Given the description of an element on the screen output the (x, y) to click on. 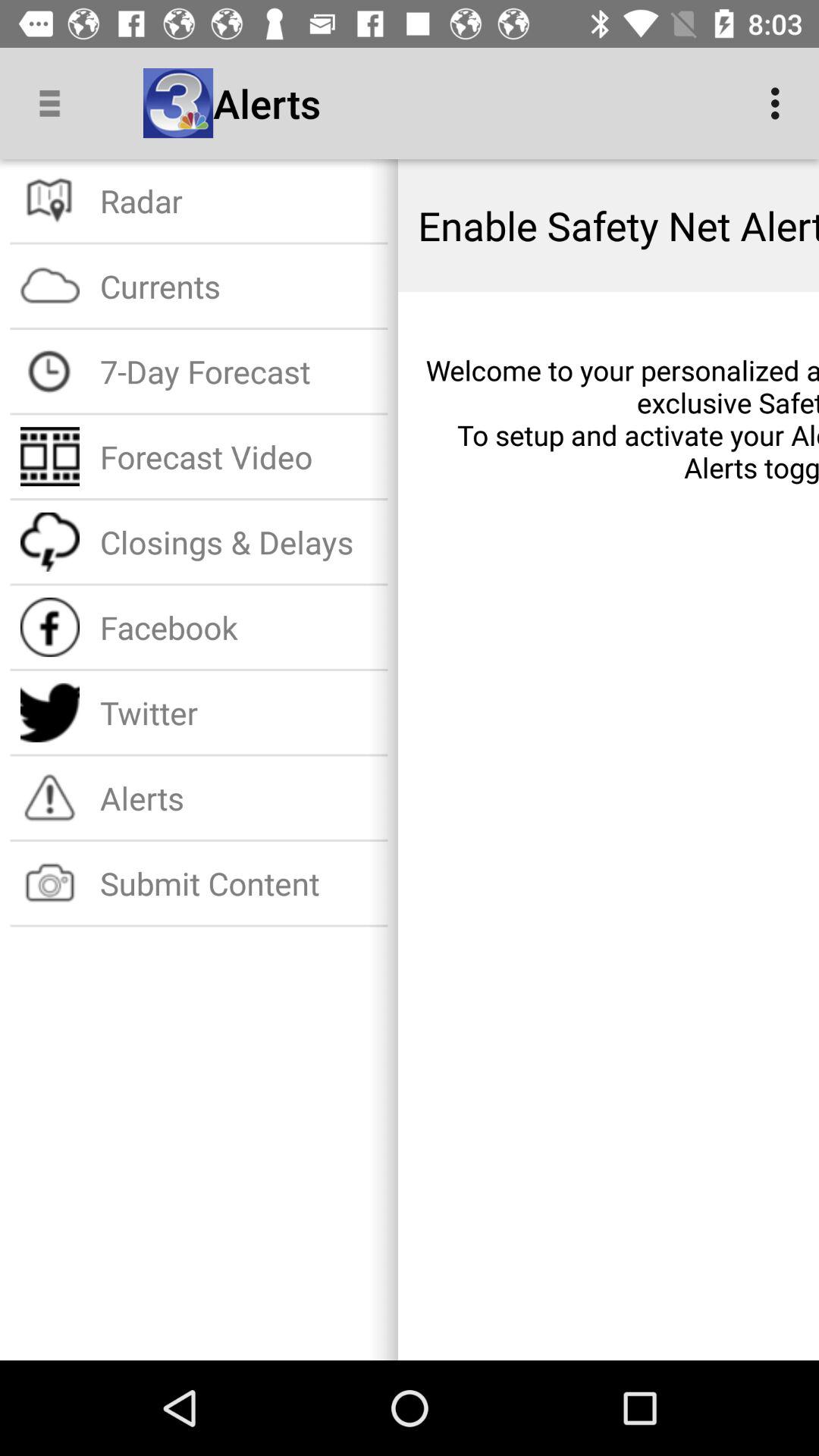
turn on icon next to enable safety net (238, 200)
